Given the description of an element on the screen output the (x, y) to click on. 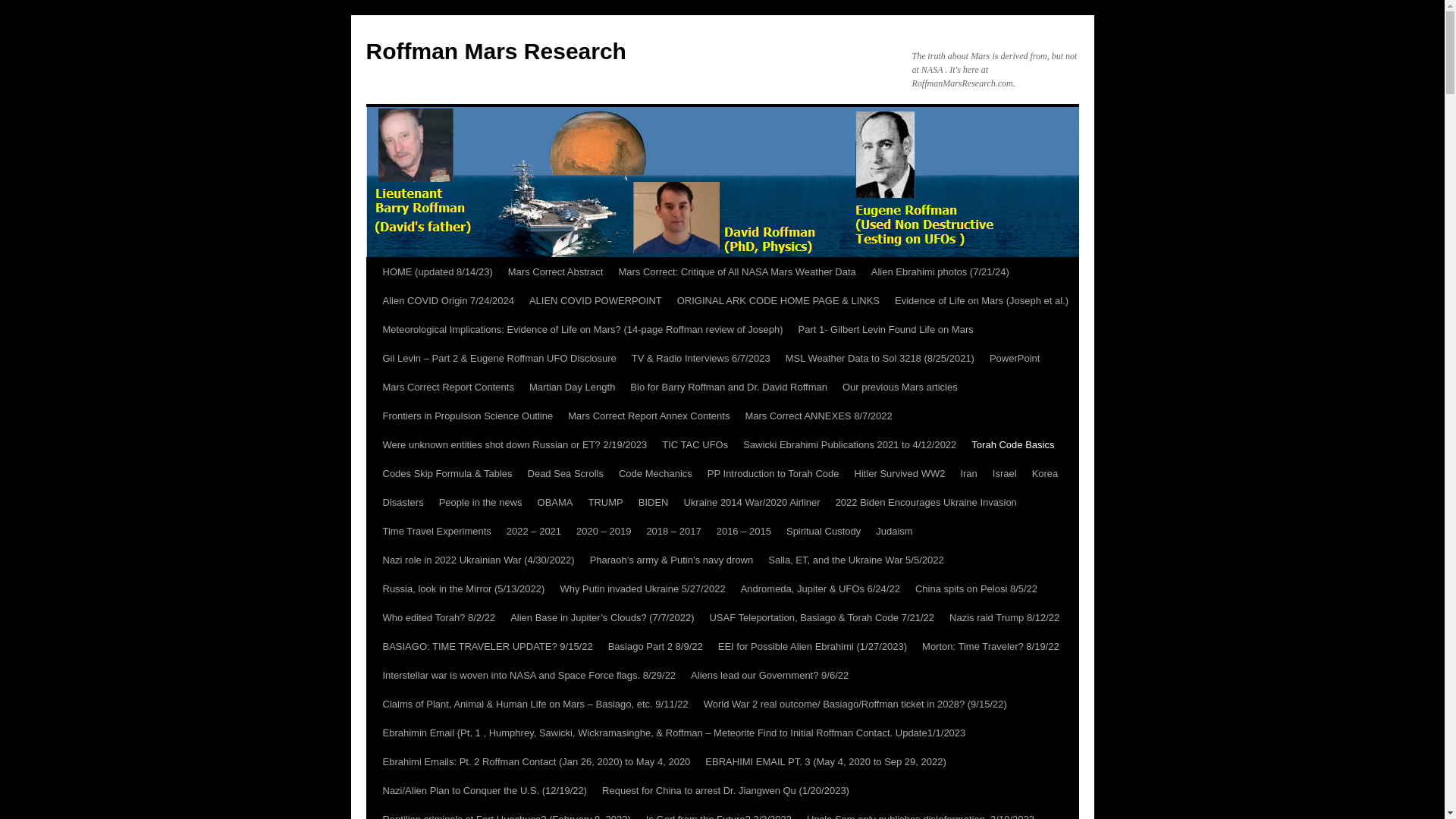
Mars Correct Report Contents (447, 387)
Martian Day Length (572, 387)
Mars Correct: Critique of All NASA Mars Weather Data (736, 271)
Roffman Mars Research (495, 50)
ALIEN COVID POWERPOINT (595, 300)
Part 1- Gilbert Levin Found Life on Mars (884, 329)
Our previous Mars articles (899, 387)
Mars Correct Report Annex Contents (648, 416)
Frontiers in Propulsion Science Outline (467, 416)
PowerPoint (1013, 358)
